Given the description of an element on the screen output the (x, y) to click on. 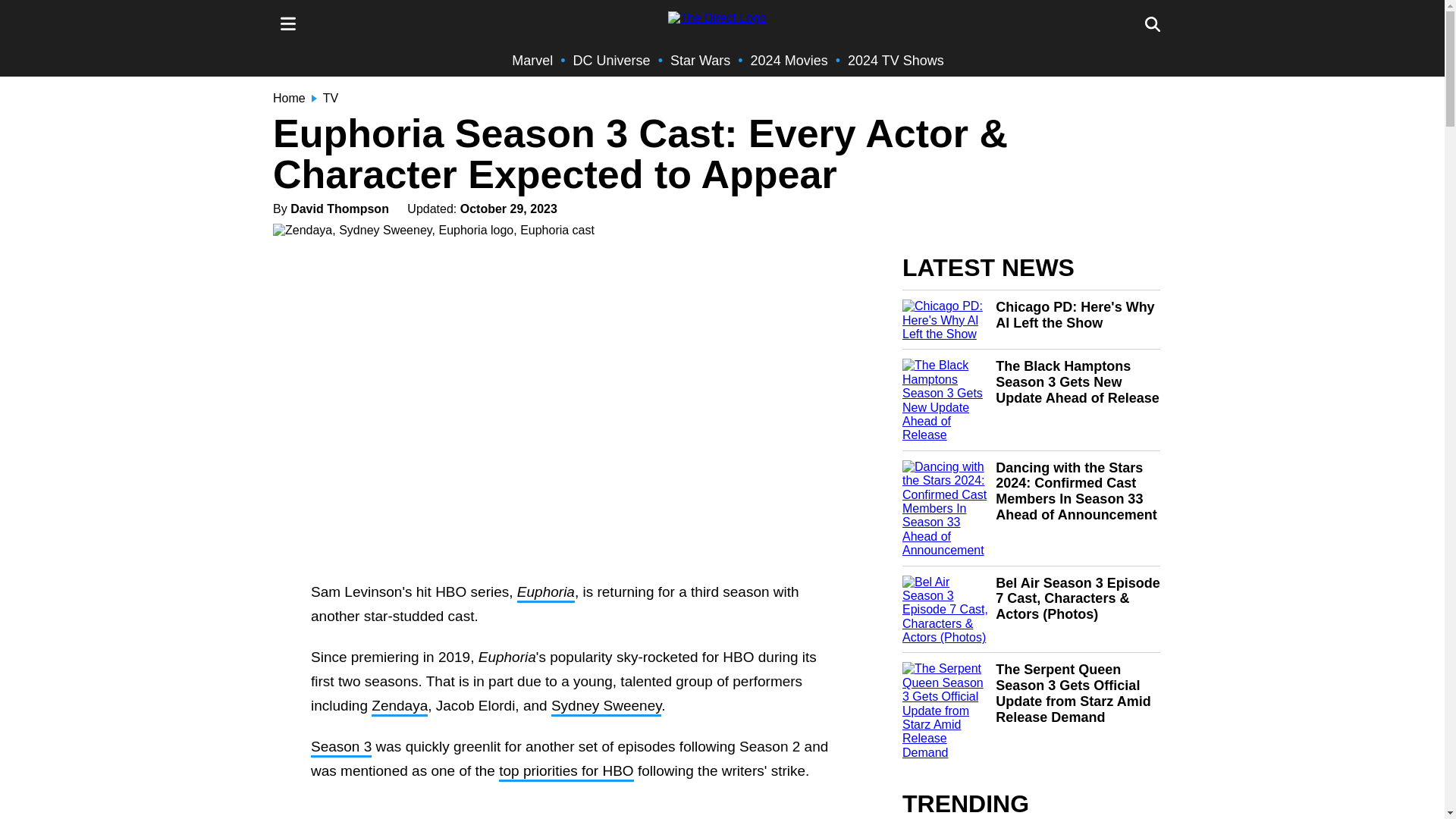
Star Wars (699, 60)
2024 TV Shows (895, 60)
DC Universe (611, 60)
2024 Movies (789, 60)
Marvel (532, 60)
